Given the description of an element on the screen output the (x, y) to click on. 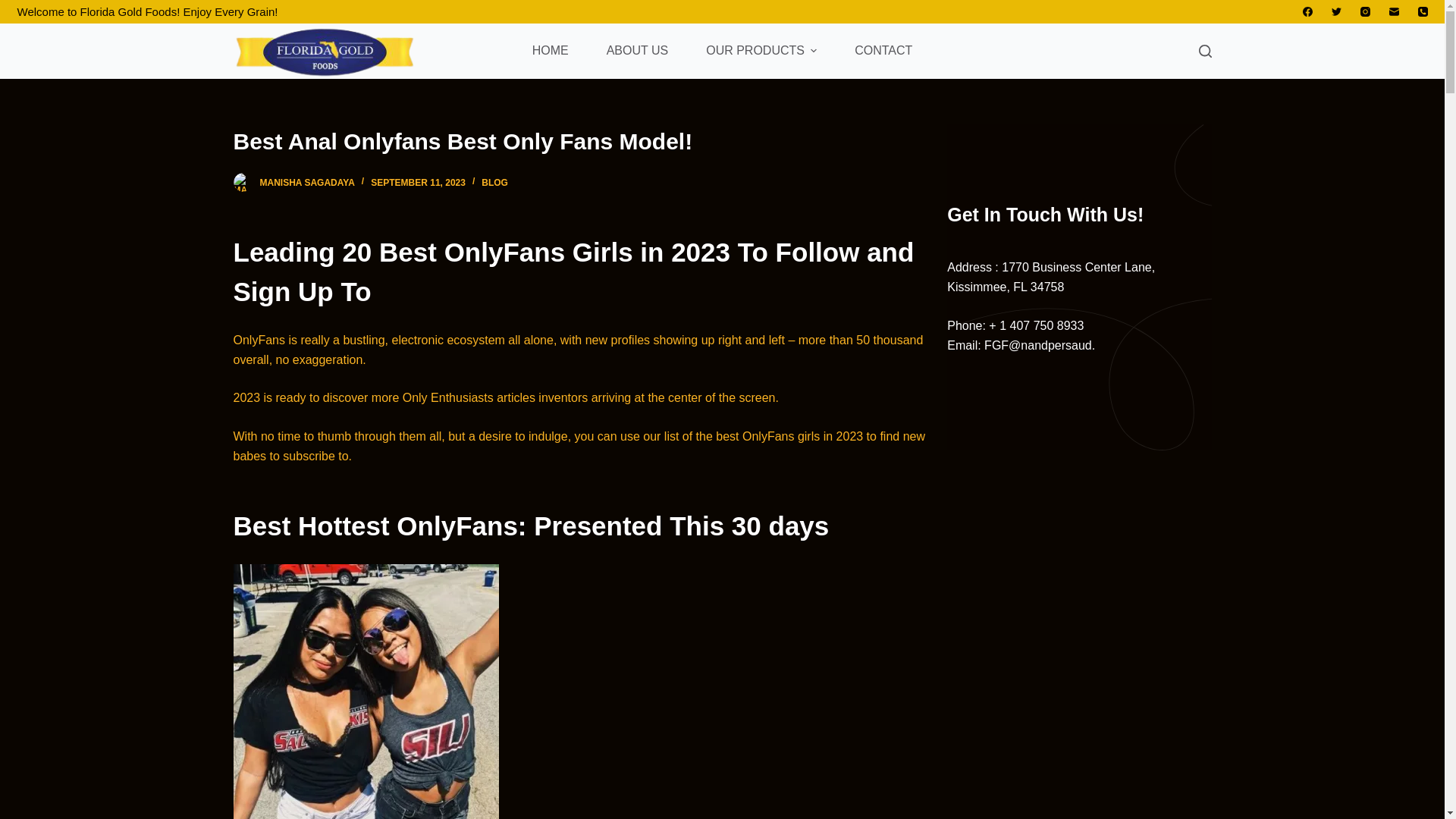
Posts by Manisha Sagadaya (306, 182)
HOME (550, 51)
Best Anal Onlyfans Best Only Fans Model! (589, 141)
OUR PRODUCTS (761, 51)
ABOUT US (637, 51)
Skip to content (15, 7)
